Given the description of an element on the screen output the (x, y) to click on. 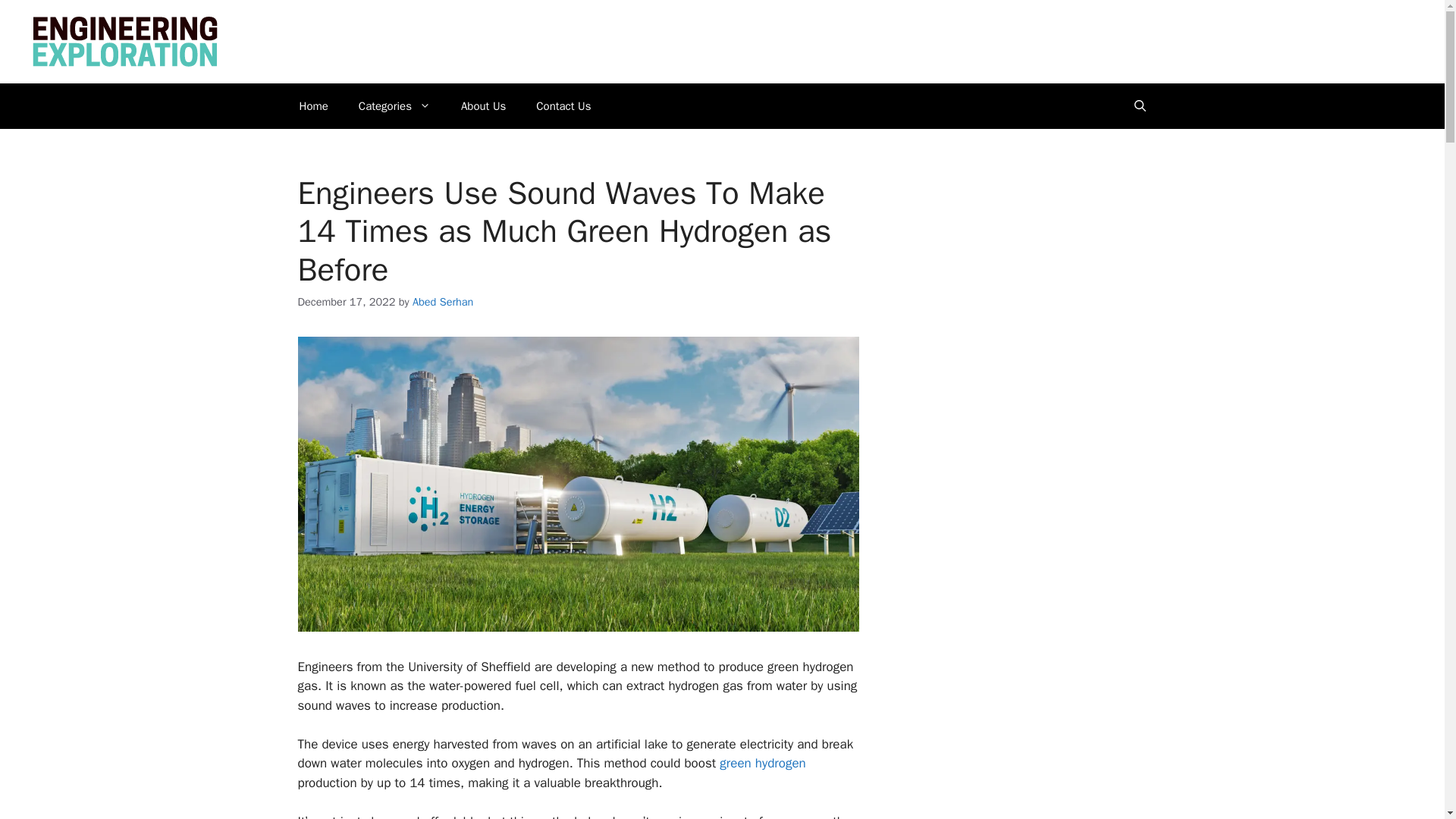
View all posts by Abed Serhan (442, 301)
Categories (394, 105)
About Us (483, 105)
Home (312, 105)
Contact Us (563, 105)
Abed Serhan (442, 301)
green hydrogen (762, 763)
